Given the description of an element on the screen output the (x, y) to click on. 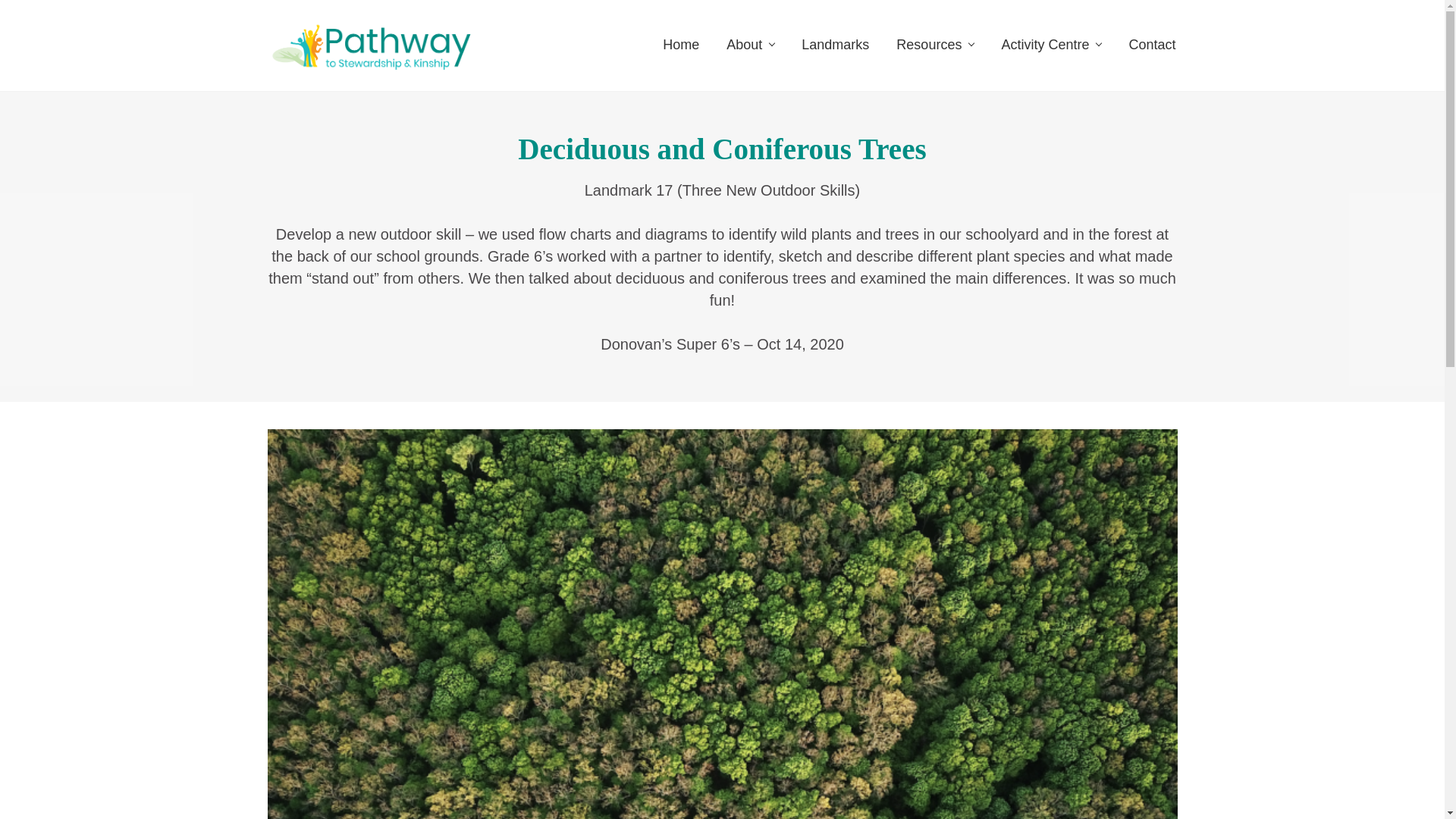
Landmarks (834, 44)
About (750, 44)
Resources (934, 44)
Activity Centre (1050, 44)
Home (680, 44)
